Given the description of an element on the screen output the (x, y) to click on. 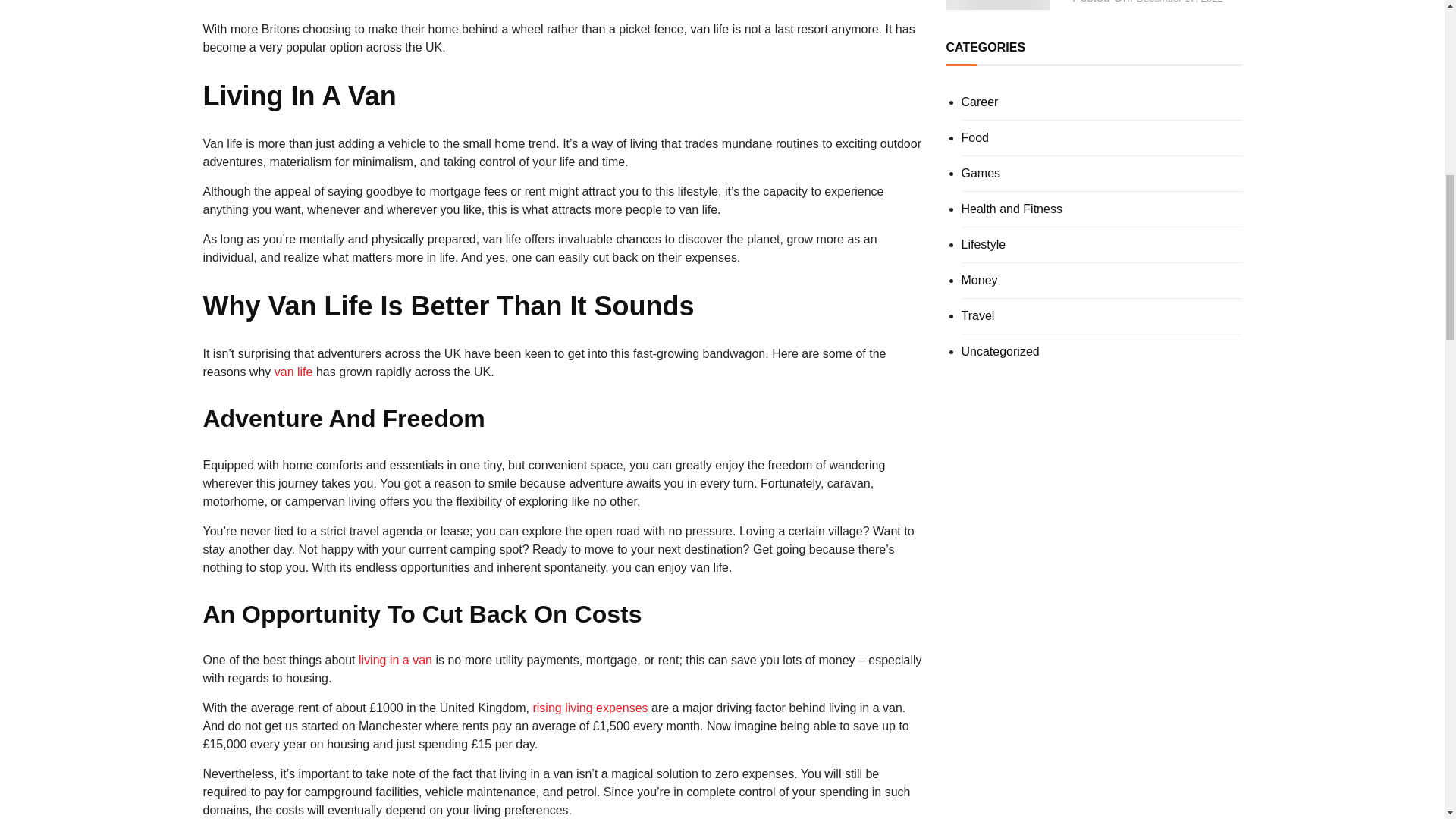
rising living expenses (589, 707)
van life (294, 371)
living in a van (395, 659)
